Given the description of an element on the screen output the (x, y) to click on. 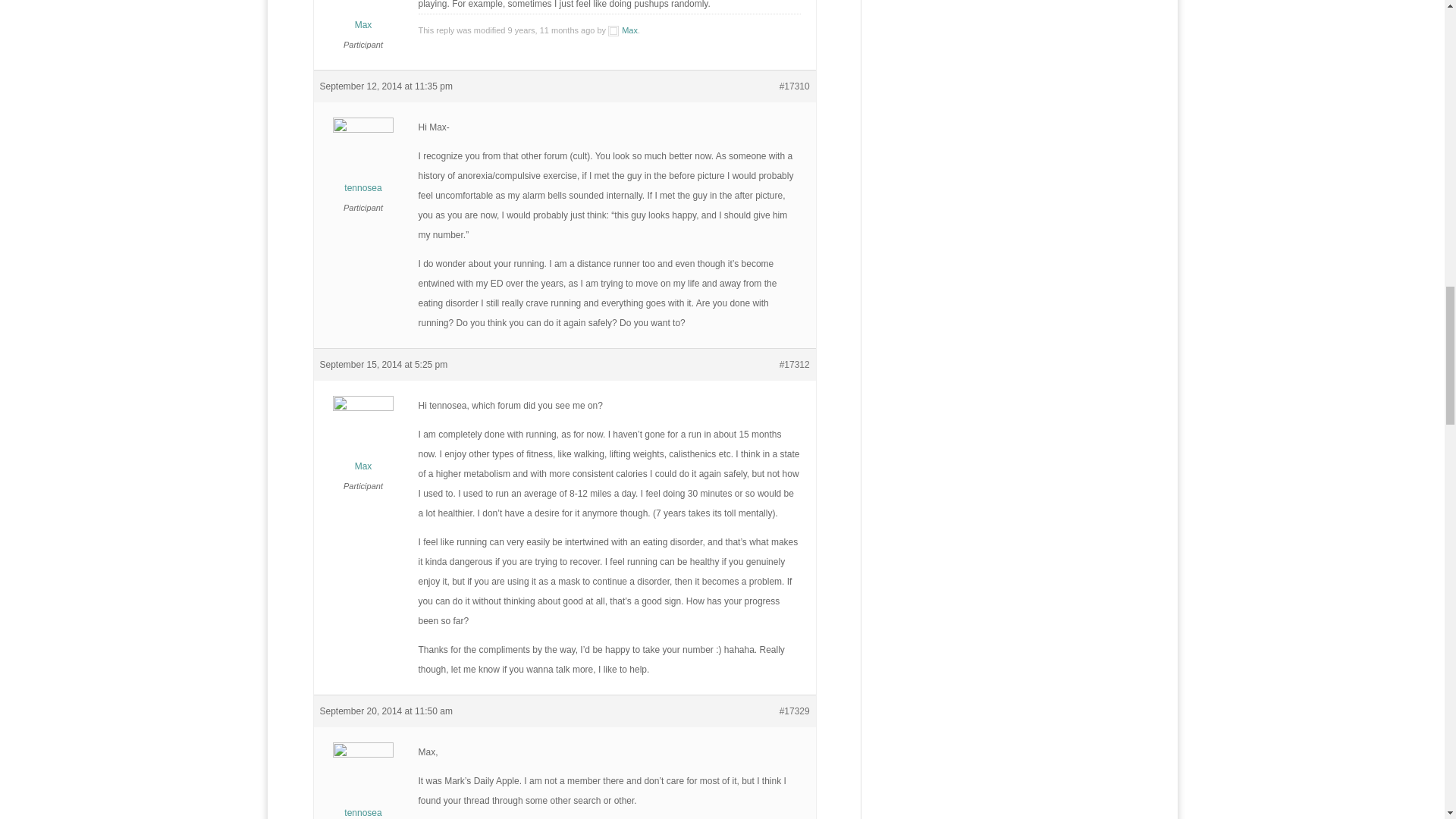
View tennosea's profile (363, 784)
View Max's profile (622, 30)
Max (622, 30)
Max (363, 17)
tennosea (363, 784)
tennosea (363, 161)
View tennosea's profile (363, 161)
View Max's profile (363, 438)
View Max's profile (363, 17)
Max (363, 438)
